Given the description of an element on the screen output the (x, y) to click on. 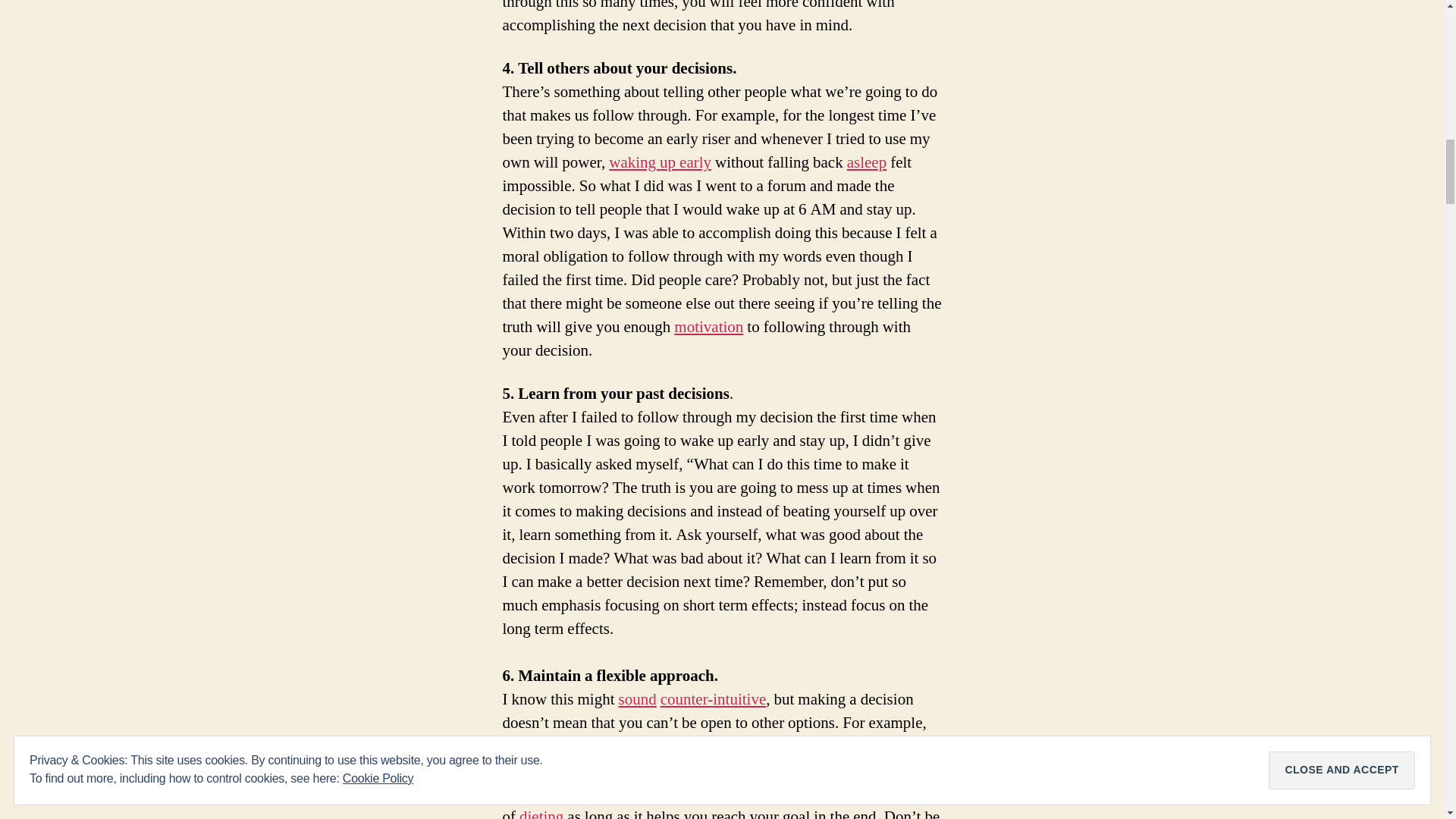
Weight loss (718, 792)
motivation (708, 326)
Waking up early (659, 162)
sound (637, 699)
dieting (541, 812)
Counterintuitive (714, 699)
asleep (866, 162)
Motivation (708, 326)
counter-intuitive (714, 699)
Dieting (541, 812)
